Given the description of an element on the screen output the (x, y) to click on. 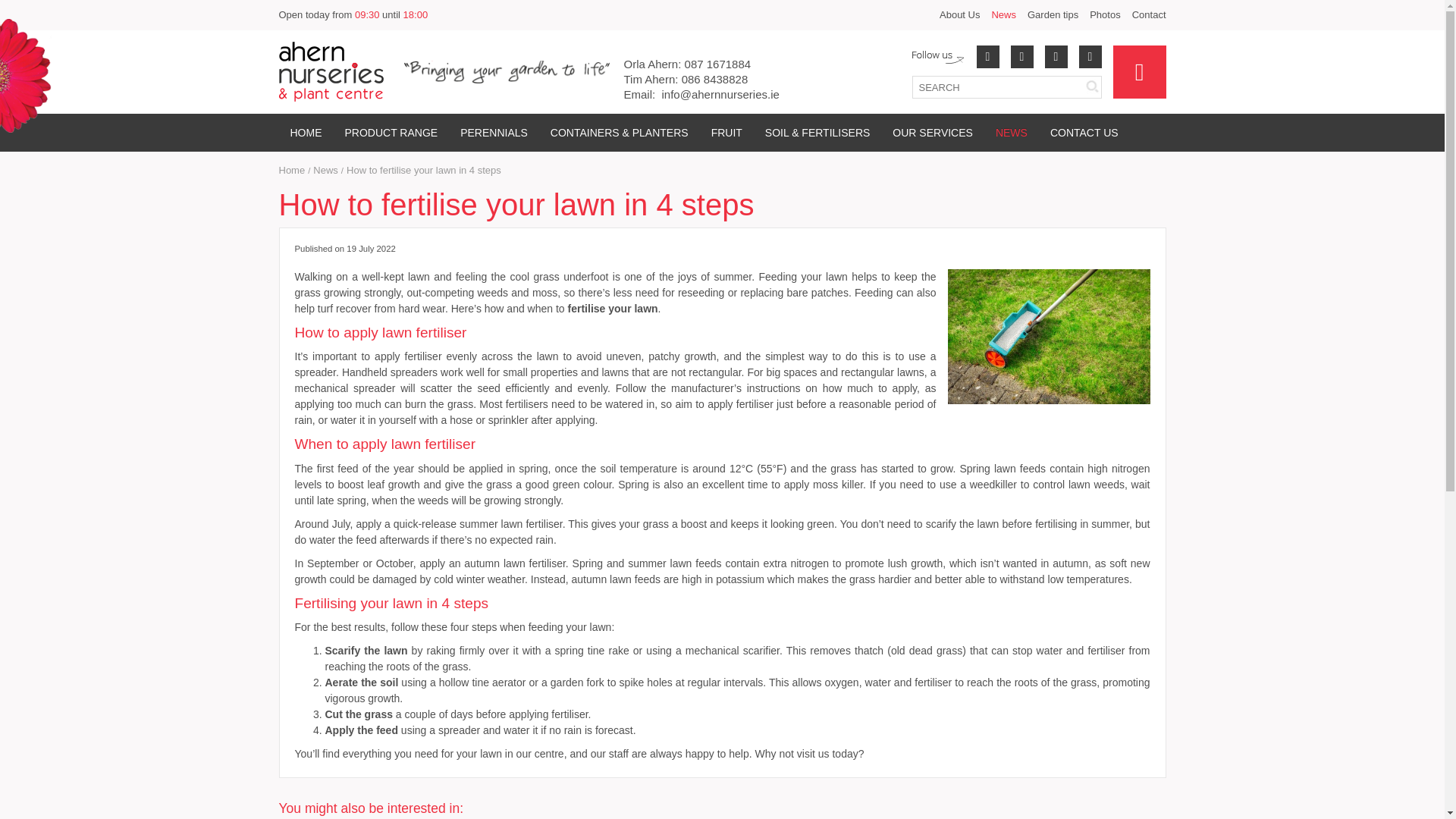
FB (987, 56)
How to fertilise your lawn in 4 steps (423, 170)
Home (292, 170)
Photos (1104, 14)
PRODUCT RANGE (391, 132)
TW (1089, 56)
Home (292, 170)
IN (1056, 56)
News (1003, 14)
Product Range (391, 132)
Photos (1104, 14)
Home (306, 132)
PR (1021, 56)
Contact (1149, 14)
News (325, 170)
